Given the description of an element on the screen output the (x, y) to click on. 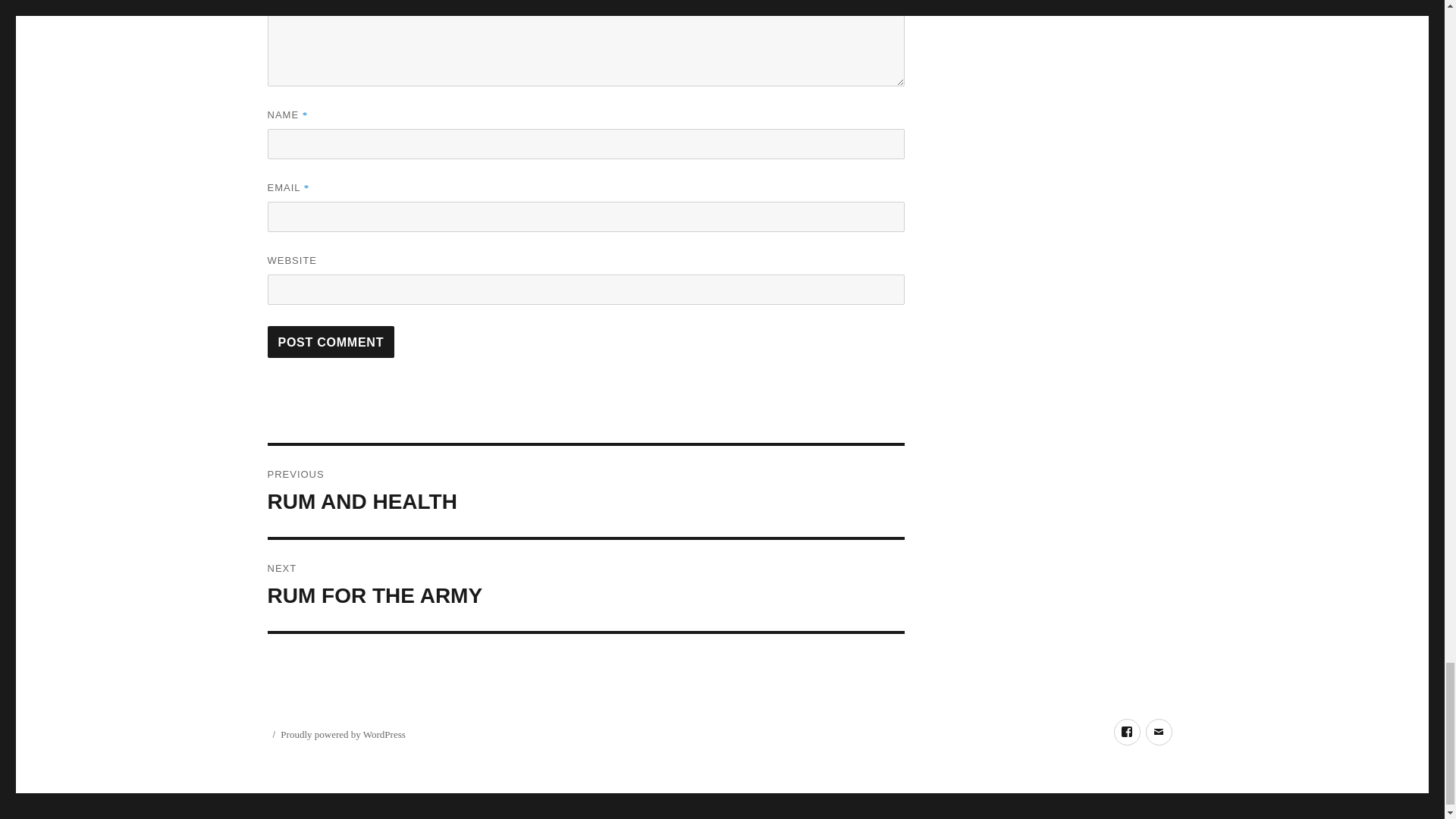
Post Comment (585, 491)
Post Comment (585, 584)
